Given the description of an element on the screen output the (x, y) to click on. 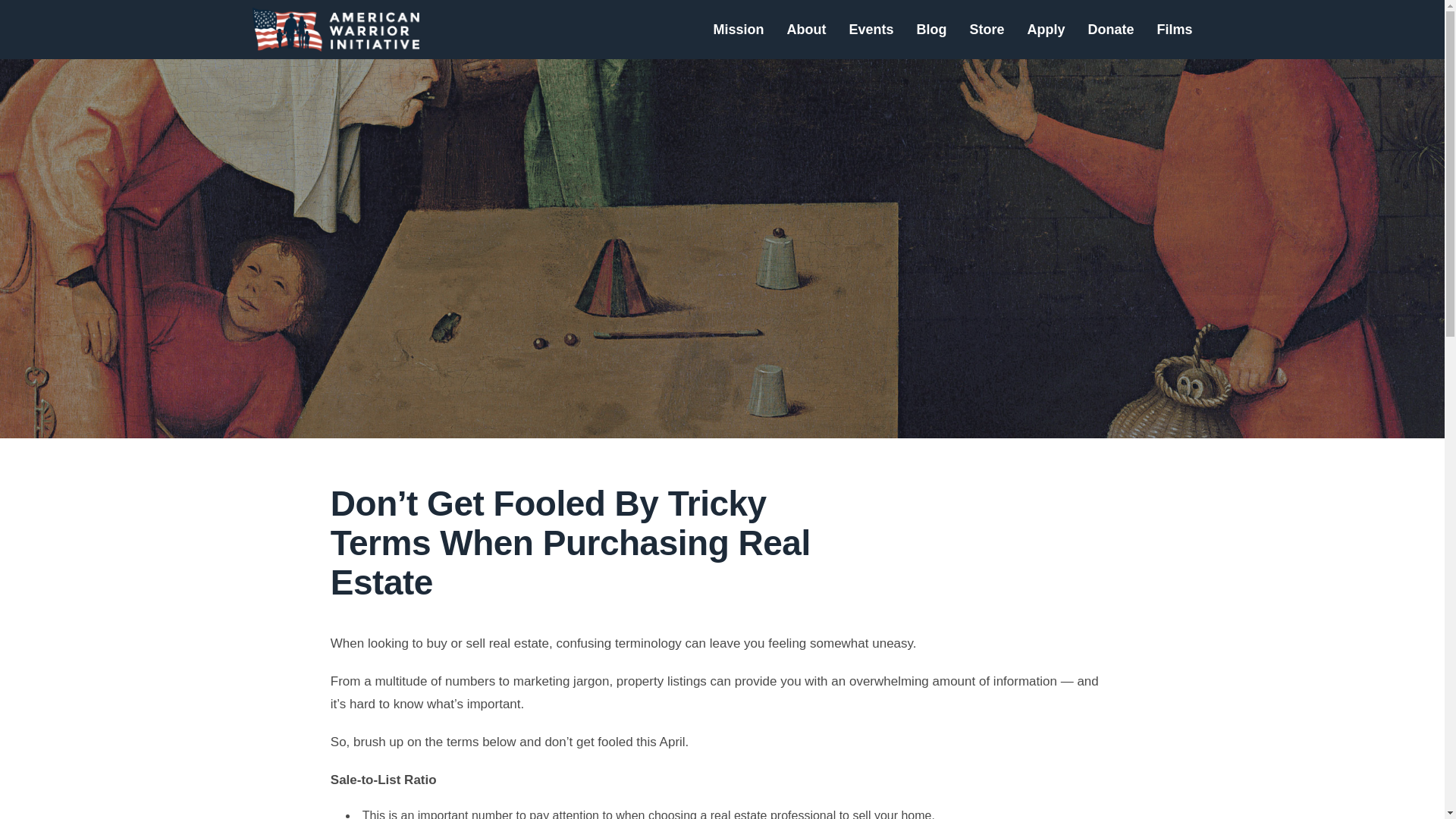
Blog (930, 29)
Films (1174, 29)
Donate (1110, 29)
Apply (1045, 29)
About (805, 29)
Events (870, 29)
Mission (737, 29)
Store (986, 29)
